Given the description of an element on the screen output the (x, y) to click on. 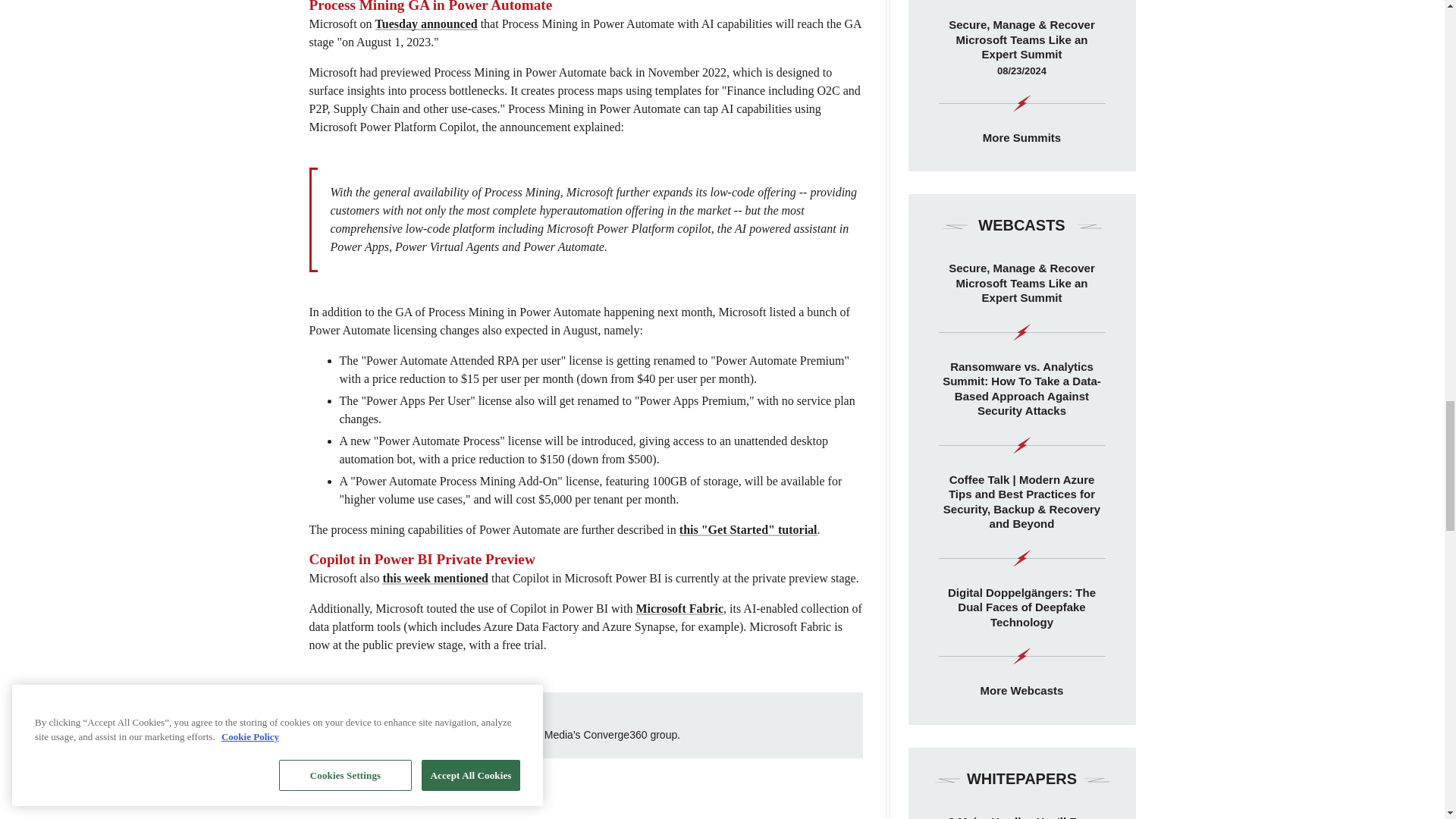
this "Get Started" tutorial (747, 529)
3rd party ad content (584, 801)
Tuesday announced (426, 23)
